Given the description of an element on the screen output the (x, y) to click on. 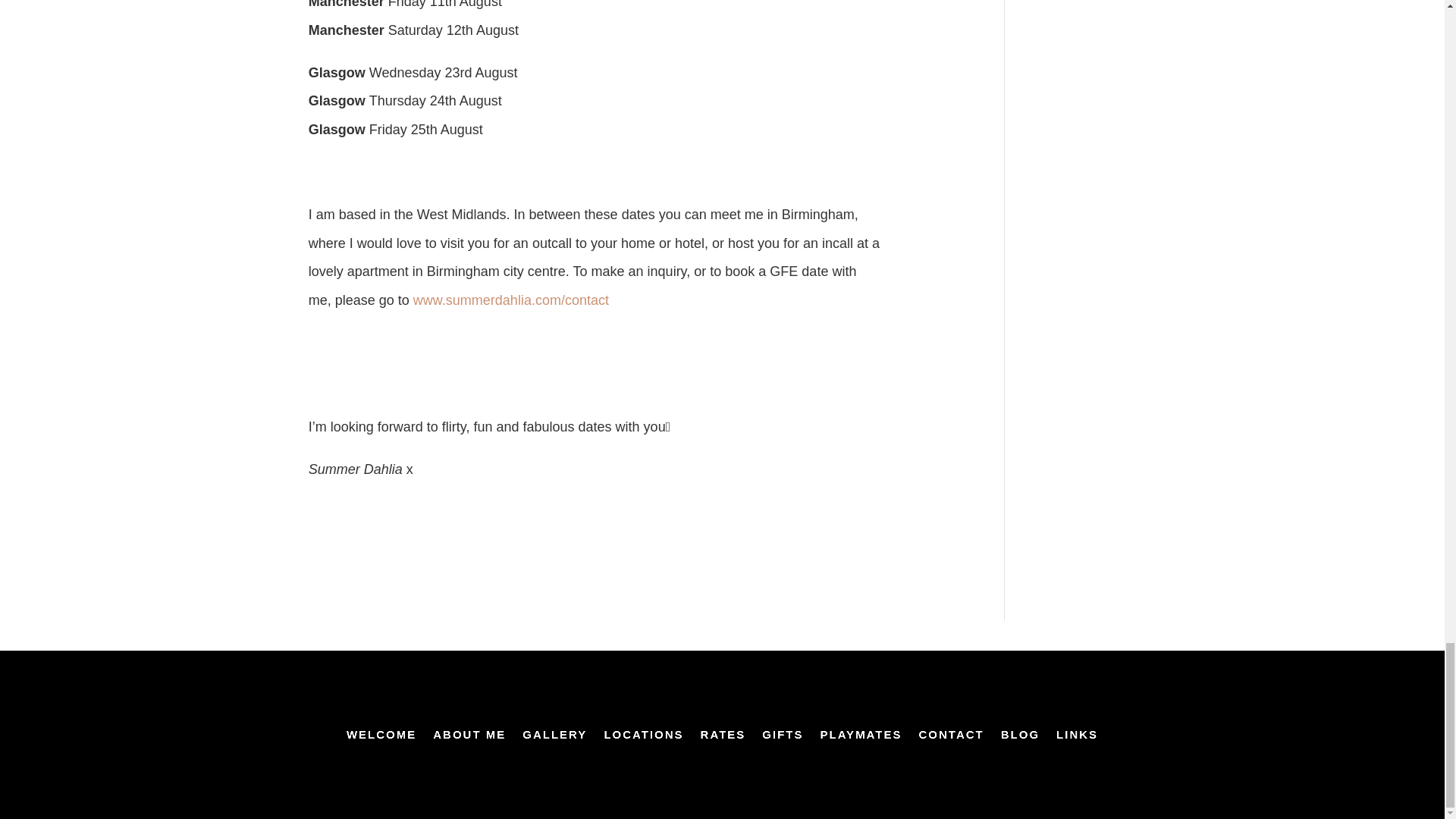
WELCOME (381, 737)
